Given the description of an element on the screen output the (x, y) to click on. 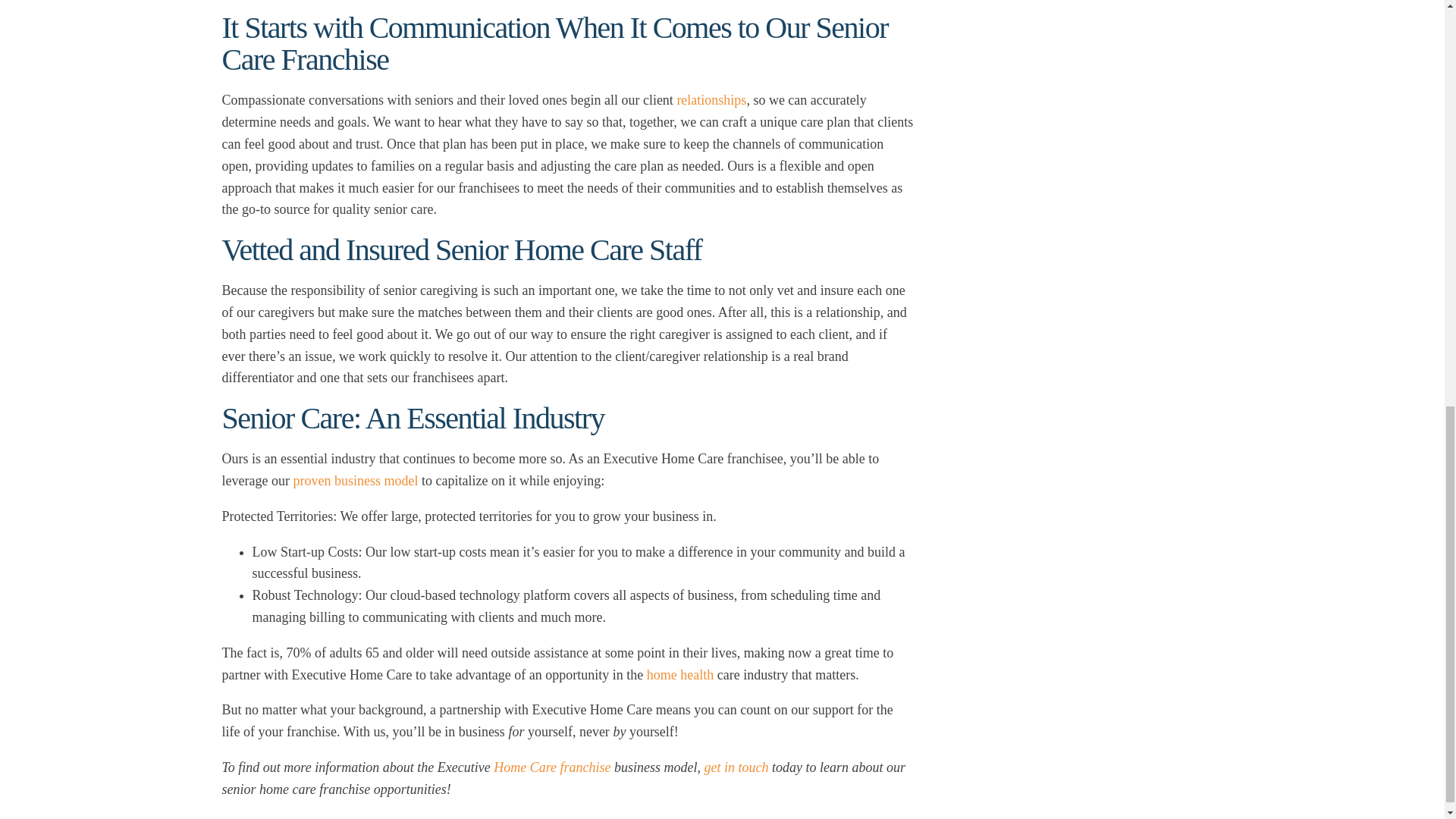
home health (679, 674)
Home Care franchise (551, 767)
proven business model (354, 480)
relationships (711, 99)
